Given the description of an element on the screen output the (x, y) to click on. 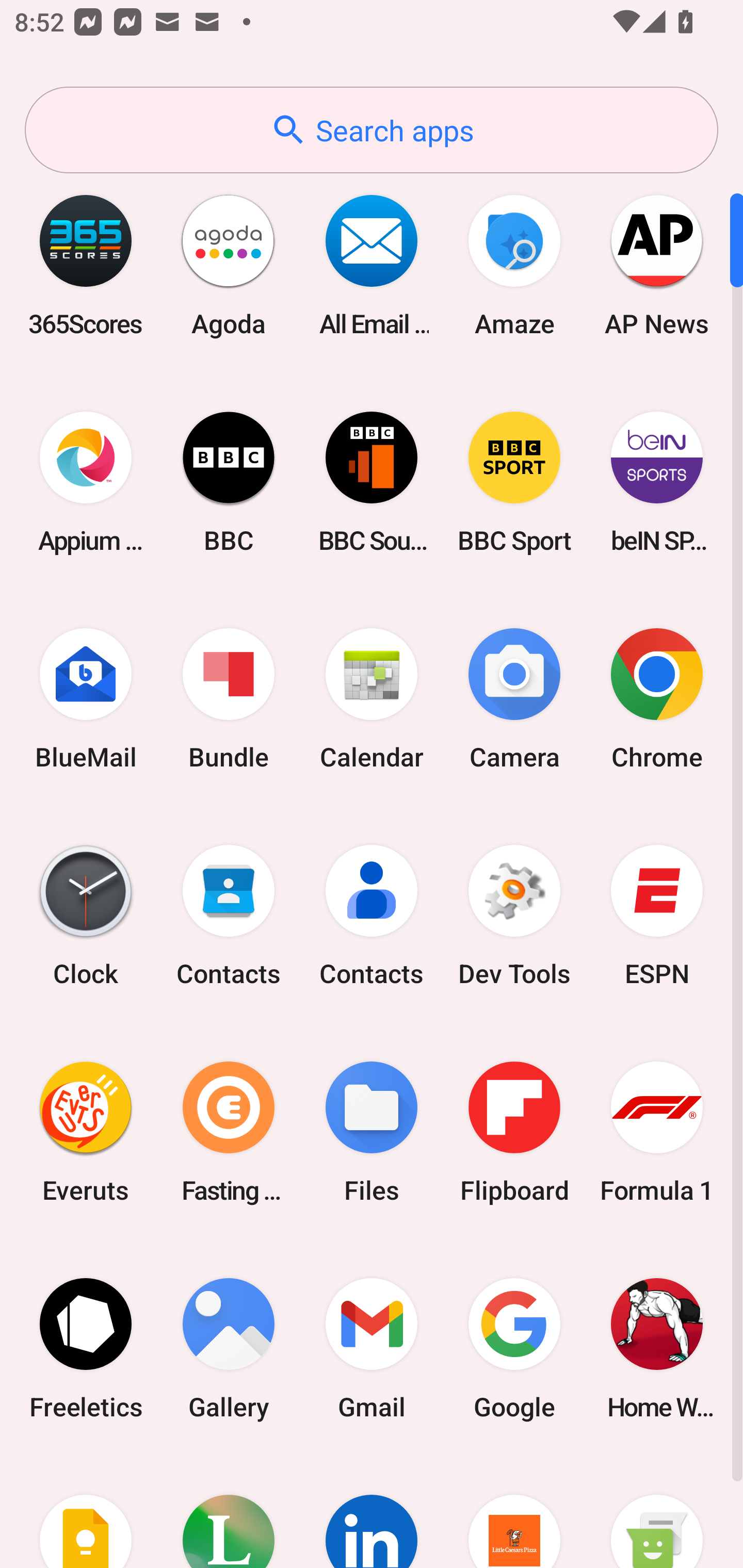
  Search apps (371, 130)
365Scores (85, 264)
Agoda (228, 264)
All Email Connect (371, 264)
Amaze (514, 264)
AP News (656, 264)
Appium Settings (85, 482)
BBC (228, 482)
BBC Sounds (371, 482)
BBC Sport (514, 482)
beIN SPORTS (656, 482)
BlueMail (85, 699)
Bundle (228, 699)
Calendar (371, 699)
Camera (514, 699)
Chrome (656, 699)
Clock (85, 915)
Contacts (228, 915)
Contacts (371, 915)
Dev Tools (514, 915)
ESPN (656, 915)
Everuts (85, 1131)
Fasting Coach (228, 1131)
Files (371, 1131)
Flipboard (514, 1131)
Formula 1 (656, 1131)
Freeletics (85, 1348)
Gallery (228, 1348)
Gmail (371, 1348)
Google (514, 1348)
Home Workout (656, 1348)
Keep Notes (85, 1512)
Lifesum (228, 1512)
LinkedIn (371, 1512)
Little Caesars Pizza (514, 1512)
Messaging (656, 1512)
